Given the description of an element on the screen output the (x, y) to click on. 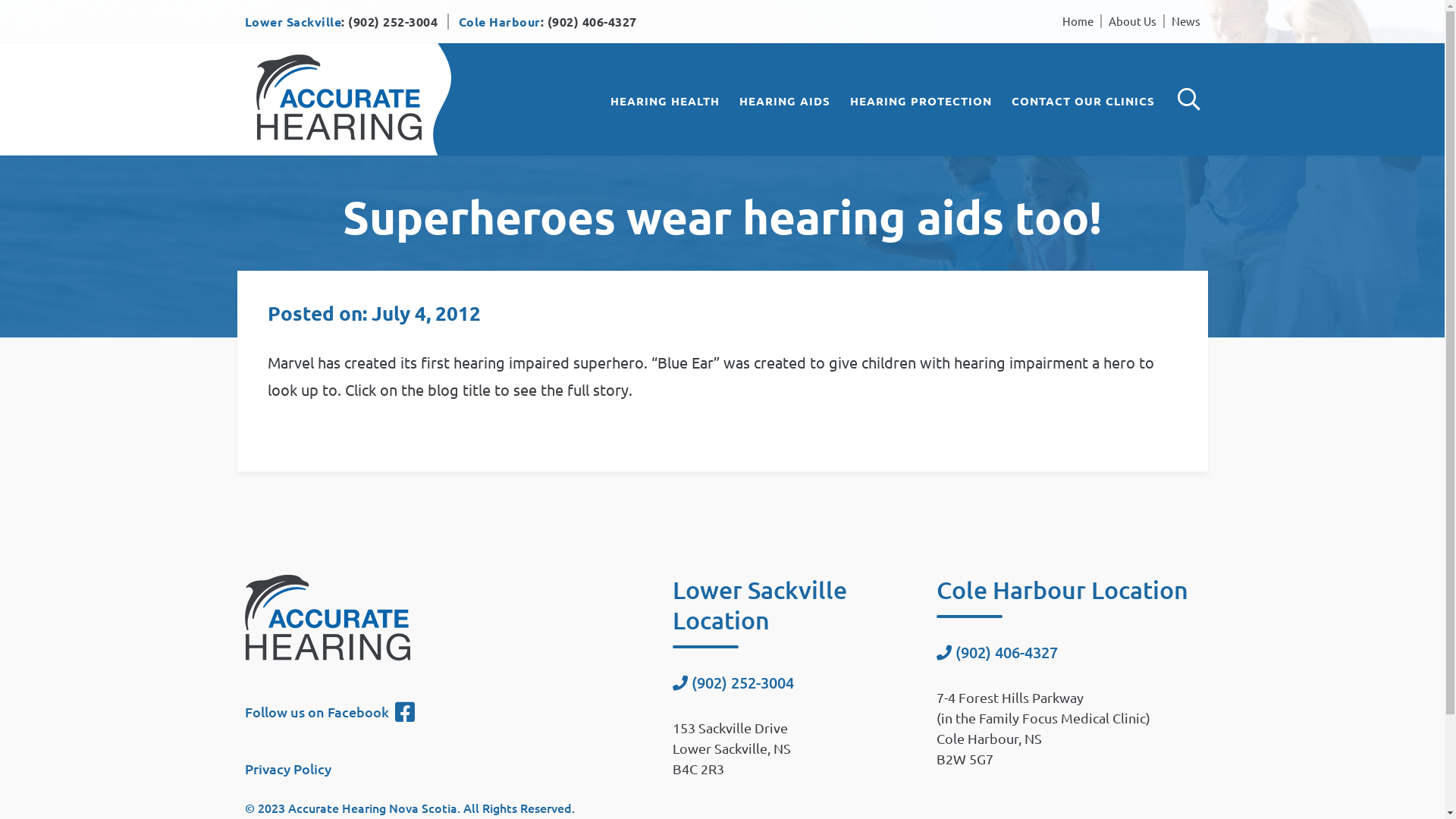
About Us Element type: text (1132, 21)
Lower Sackville Element type: text (292, 21)
HEARING HEALTH Element type: text (663, 100)
(902) 252-3004 Element type: text (392, 21)
Enter a keyword to search the website Element type: hover (1187, 98)
(902) 406-4327 Element type: text (1006, 652)
Privacy Policy Element type: text (287, 768)
(902) 406-4327 Element type: text (592, 21)
Cole Harbour Element type: text (499, 21)
Home Element type: text (1076, 21)
News Element type: text (1184, 21)
(902) 252-3004 Element type: text (742, 682)
HEARING AIDS Element type: text (783, 100)
HEARING PROTECTION Element type: text (920, 100)
CONTACT OUR CLINICS Element type: text (1082, 100)
